Given the description of an element on the screen output the (x, y) to click on. 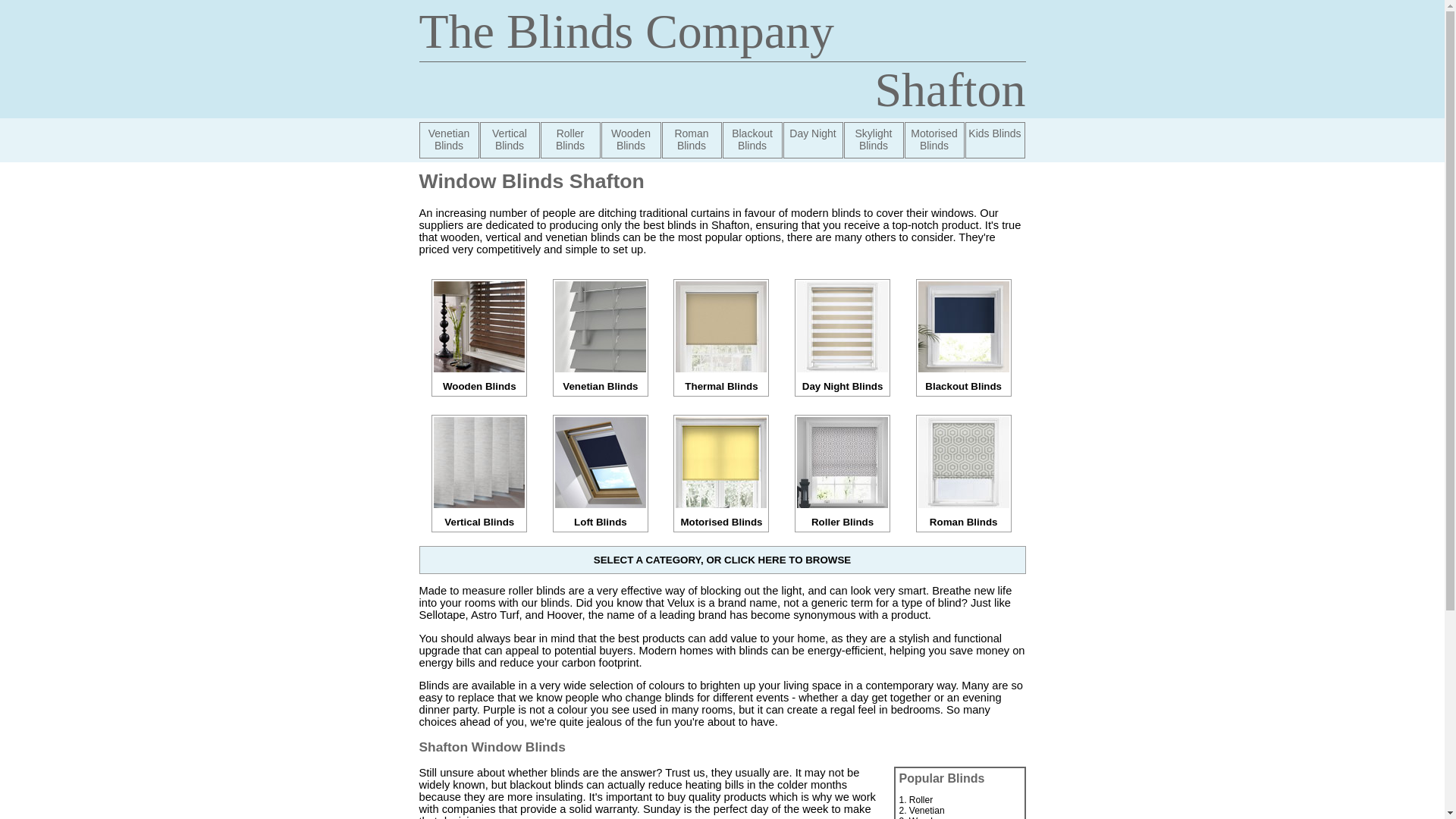
Vertical Blinds Shafton (508, 140)
Skylight Blinds Shafton (872, 140)
Vertical Blinds (478, 516)
Vertical Blinds (508, 140)
Kids Blinds Shafton (994, 140)
Motorised Blinds (721, 516)
Venetian Blinds (600, 380)
Wooden Blinds Shafton (630, 140)
Day Night Blinds Shafton (813, 140)
Wooden Blinds (478, 380)
